Given the description of an element on the screen output the (x, y) to click on. 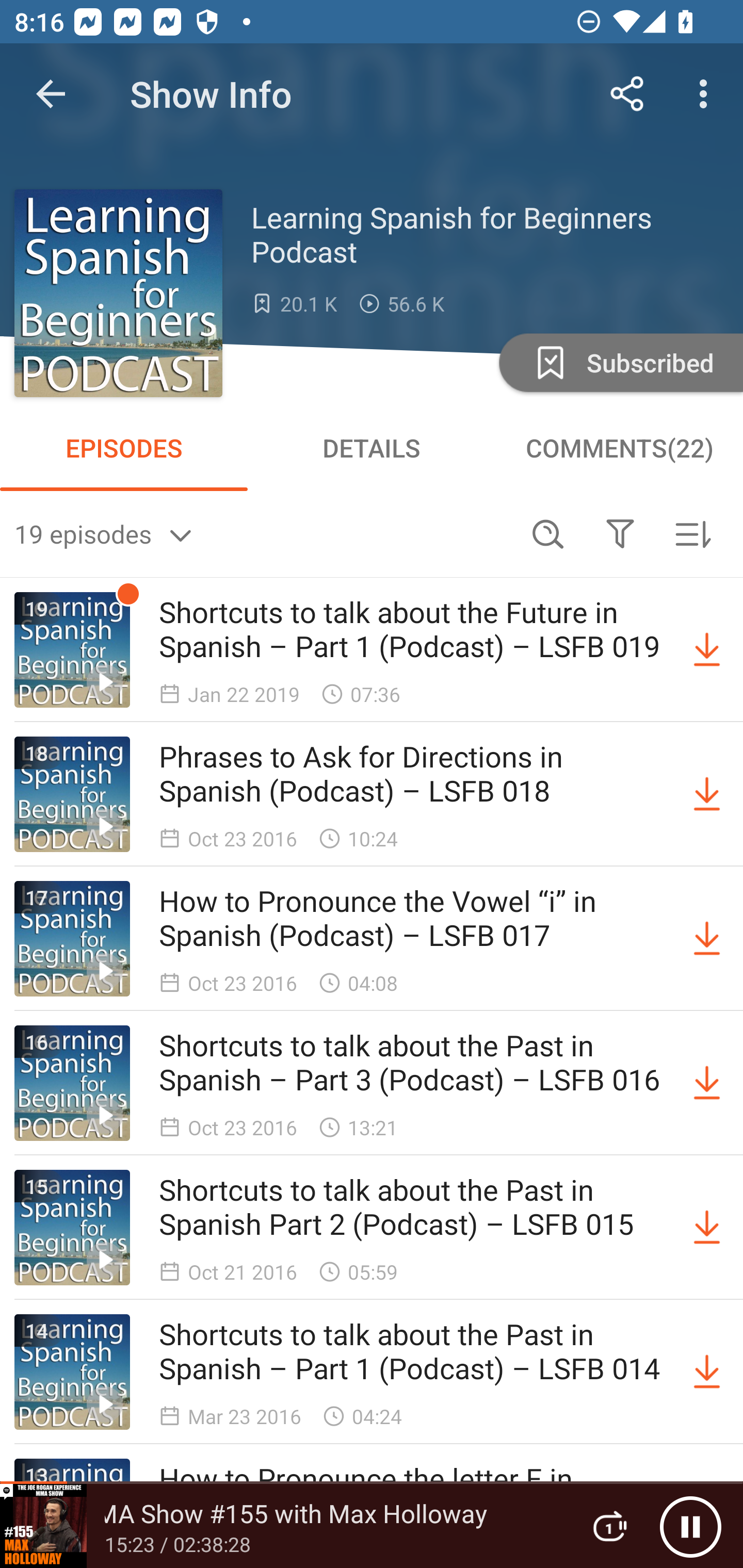
Navigate up (50, 93)
Share (626, 93)
More options (706, 93)
Unsubscribe Subscribed (619, 361)
EPISODES (123, 447)
DETAILS (371, 447)
COMMENTS(22) (619, 447)
19 episodes  (262, 533)
 Search (547, 533)
 (619, 533)
 Sorted by newest first (692, 533)
Download (706, 649)
Download (706, 793)
Download (706, 939)
Download (706, 1083)
Download (706, 1227)
Pause (690, 1526)
